Given the description of an element on the screen output the (x, y) to click on. 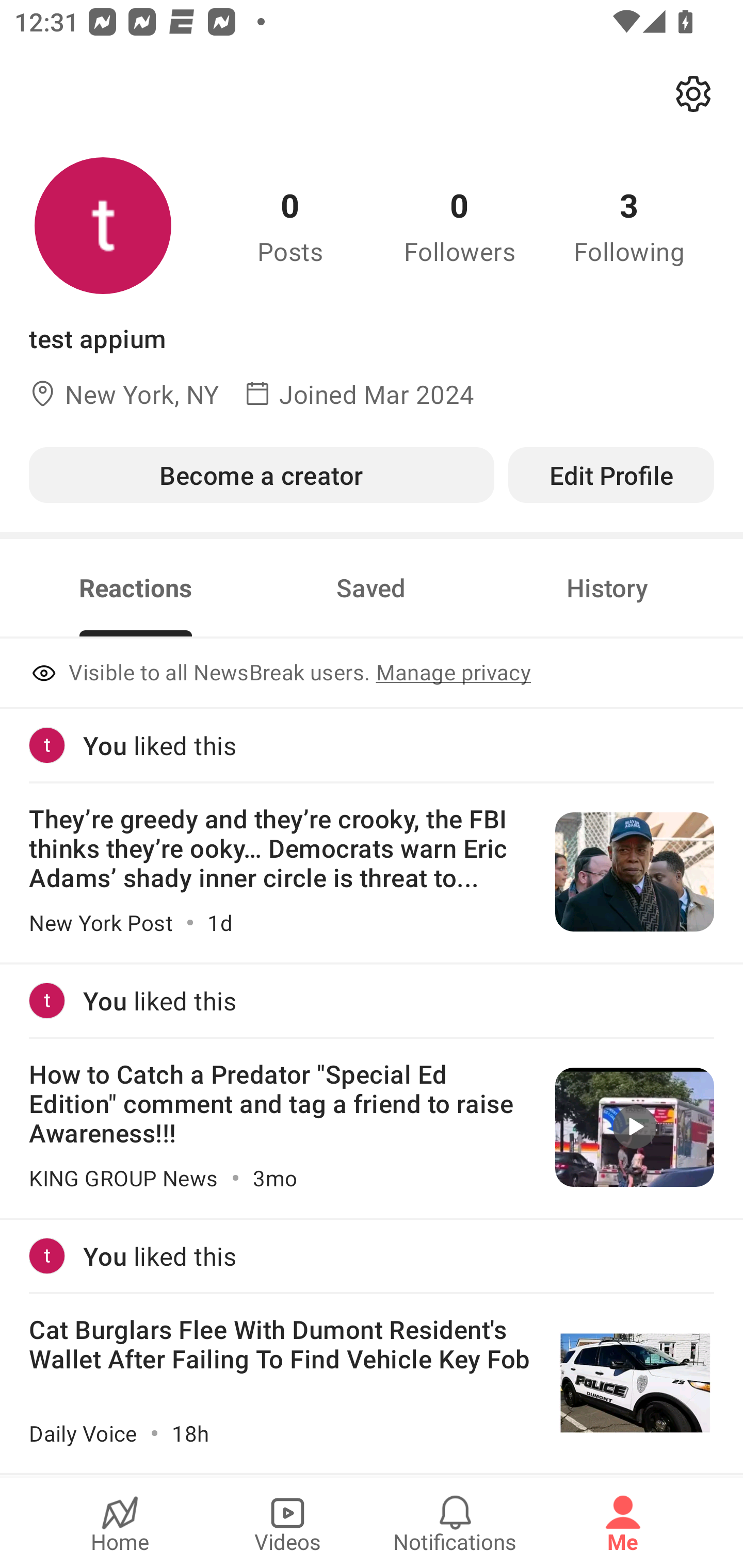
0 Followers (459, 225)
3 Following (629, 225)
Become a creator (261, 474)
Edit Profile (611, 474)
Saved (370, 587)
History (606, 587)
Visible to all NewsBreak users.  Manage privacy (371, 673)
Home (119, 1522)
Videos (287, 1522)
Notifications (455, 1522)
